Given the description of an element on the screen output the (x, y) to click on. 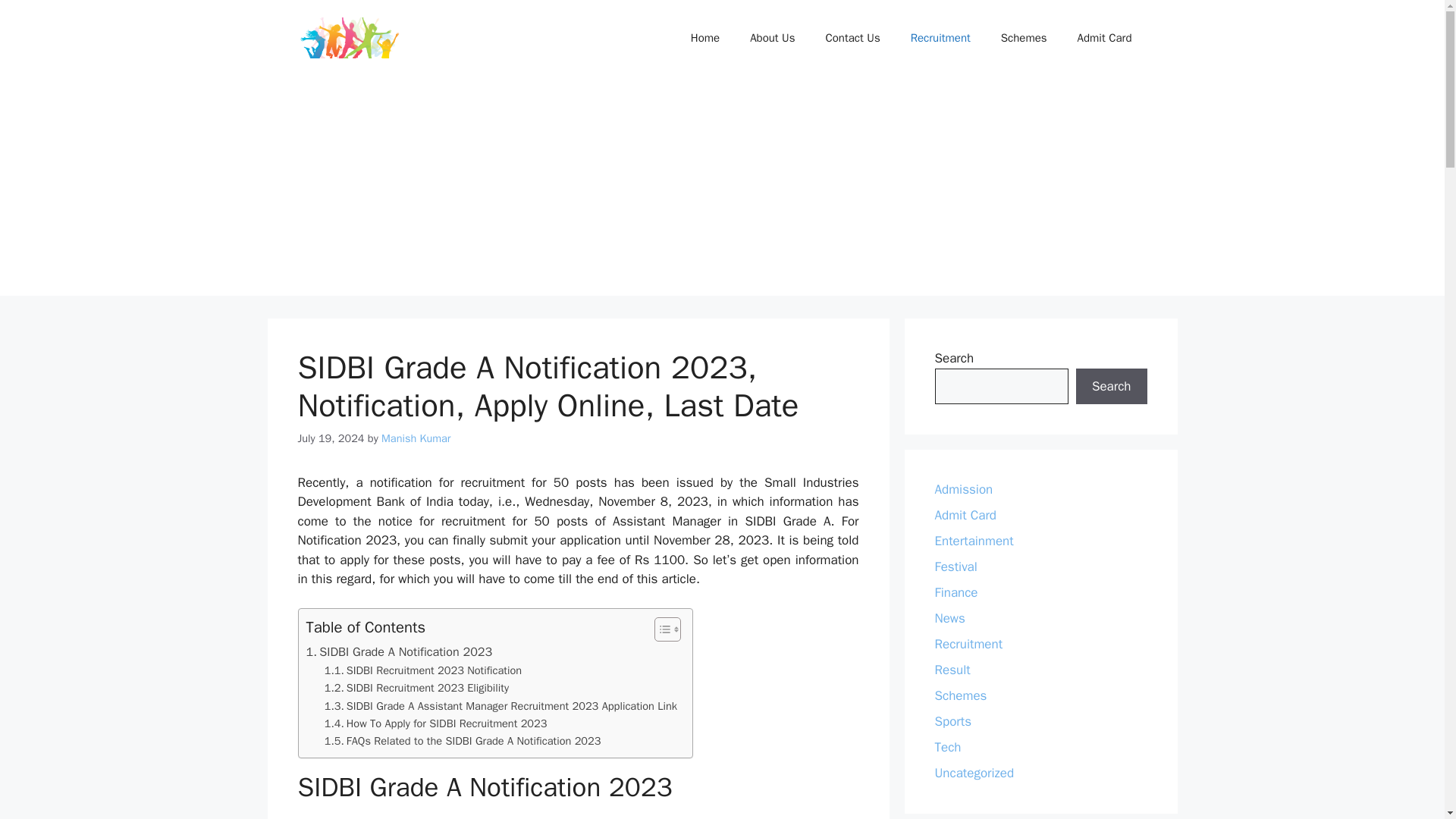
Finance (955, 592)
View all posts by Manish Kumar (415, 438)
Home (705, 37)
Schemes (1023, 37)
SIDBI Recruitment 2023 Eligibility  (418, 687)
Search (1111, 386)
FAQs Related to the SIDBI Grade A Notification 2023 (462, 741)
SIDBI Recruitment 2023 Notification  (424, 670)
Manish Kumar (415, 438)
Admit Card (1104, 37)
Admit Card (964, 514)
Contact Us (852, 37)
